Given the description of an element on the screen output the (x, y) to click on. 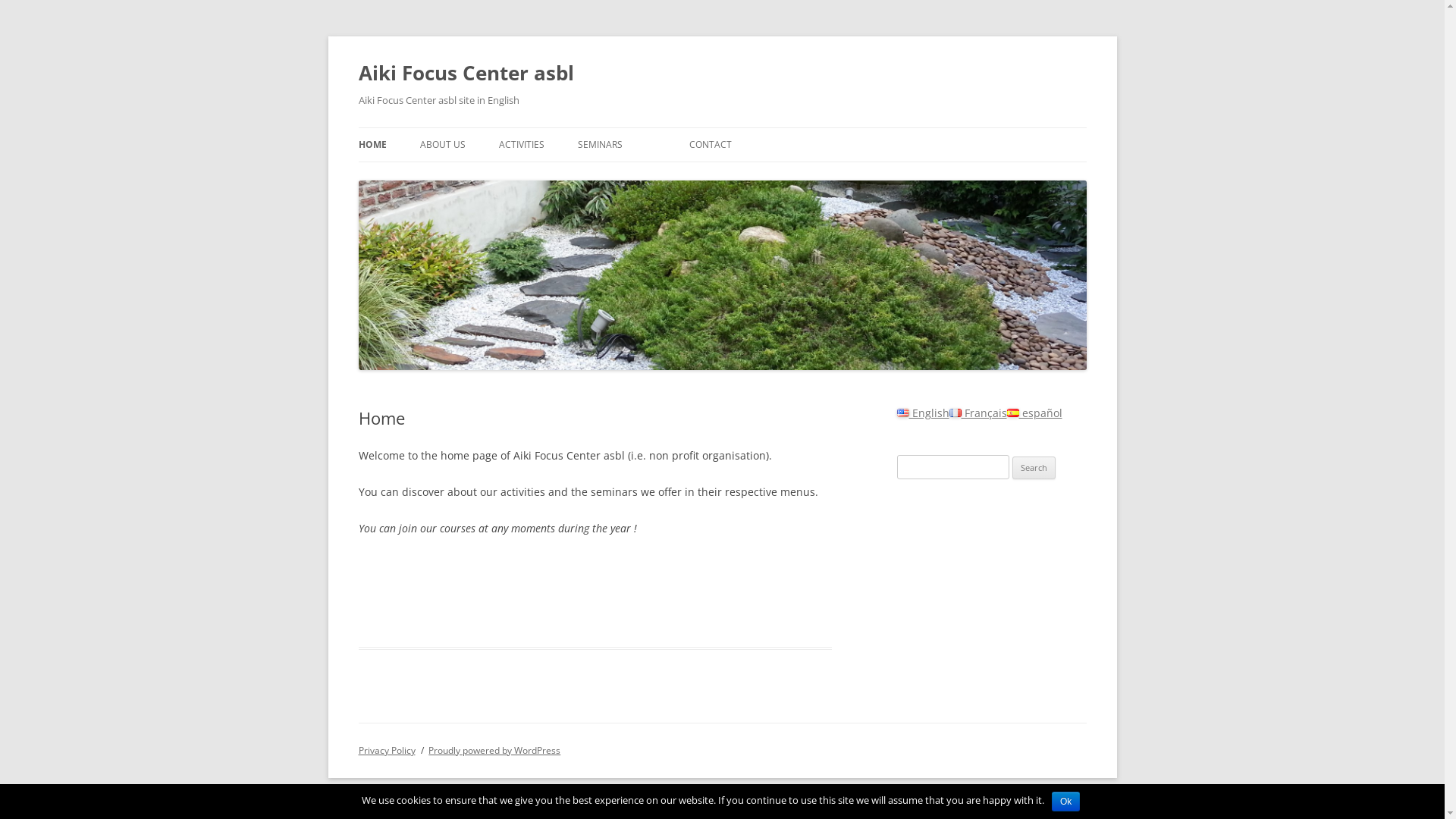
Skip to content Element type: text (721, 127)
ACTIVITIES Element type: text (521, 144)
Proudly powered by WordPress Element type: text (494, 749)
Ok Element type: text (1065, 801)
Search Element type: text (1033, 467)
English Element type: text (922, 412)
ABOUT US Element type: text (442, 144)
SEMINARS Element type: text (599, 144)
Aiki Focus Center asbl Element type: text (465, 72)
THE POWER OF AIKIDO FOR CONFLICT RESOLUTION Element type: text (653, 185)
HOME Element type: text (371, 144)
CONTACT Element type: text (709, 144)
EMBODIMENT LAB Element type: text (574, 176)
Privacy Policy Element type: text (385, 749)
WHO ARE WE? Element type: text (495, 176)
